Given the description of an element on the screen output the (x, y) to click on. 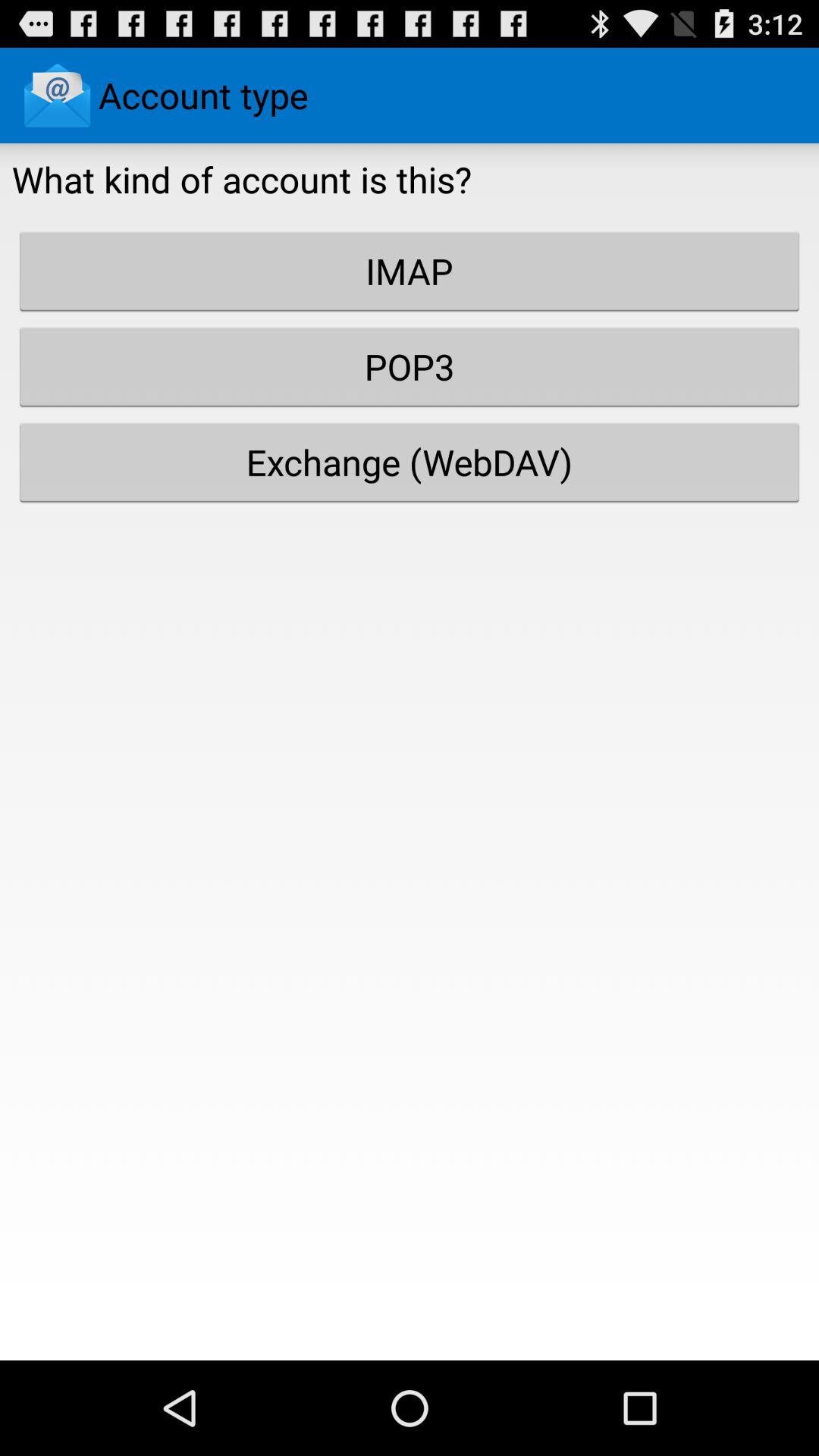
launch imap (409, 271)
